Given the description of an element on the screen output the (x, y) to click on. 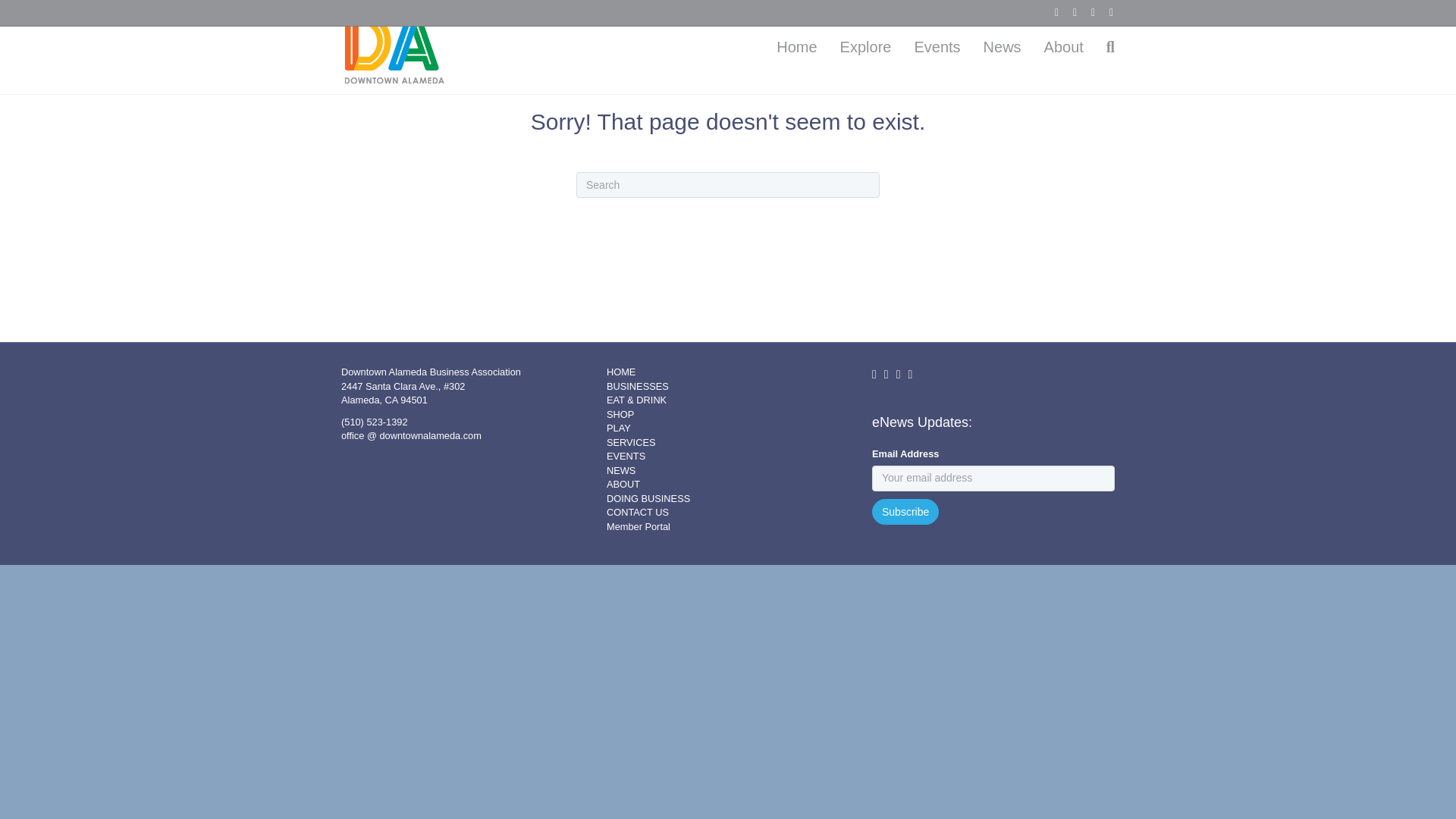
Home (796, 46)
SERVICES (631, 441)
Twitter (1067, 11)
Instagram (1103, 11)
Explore (865, 46)
BUSINESSES (637, 386)
News (1002, 46)
SHOP (620, 414)
Type and press Enter to search. (727, 184)
Subscribe (905, 511)
EVENTS (626, 455)
Events (936, 46)
Facebook (1049, 11)
HOME (620, 371)
Pinterest (1085, 11)
